Given the description of an element on the screen output the (x, y) to click on. 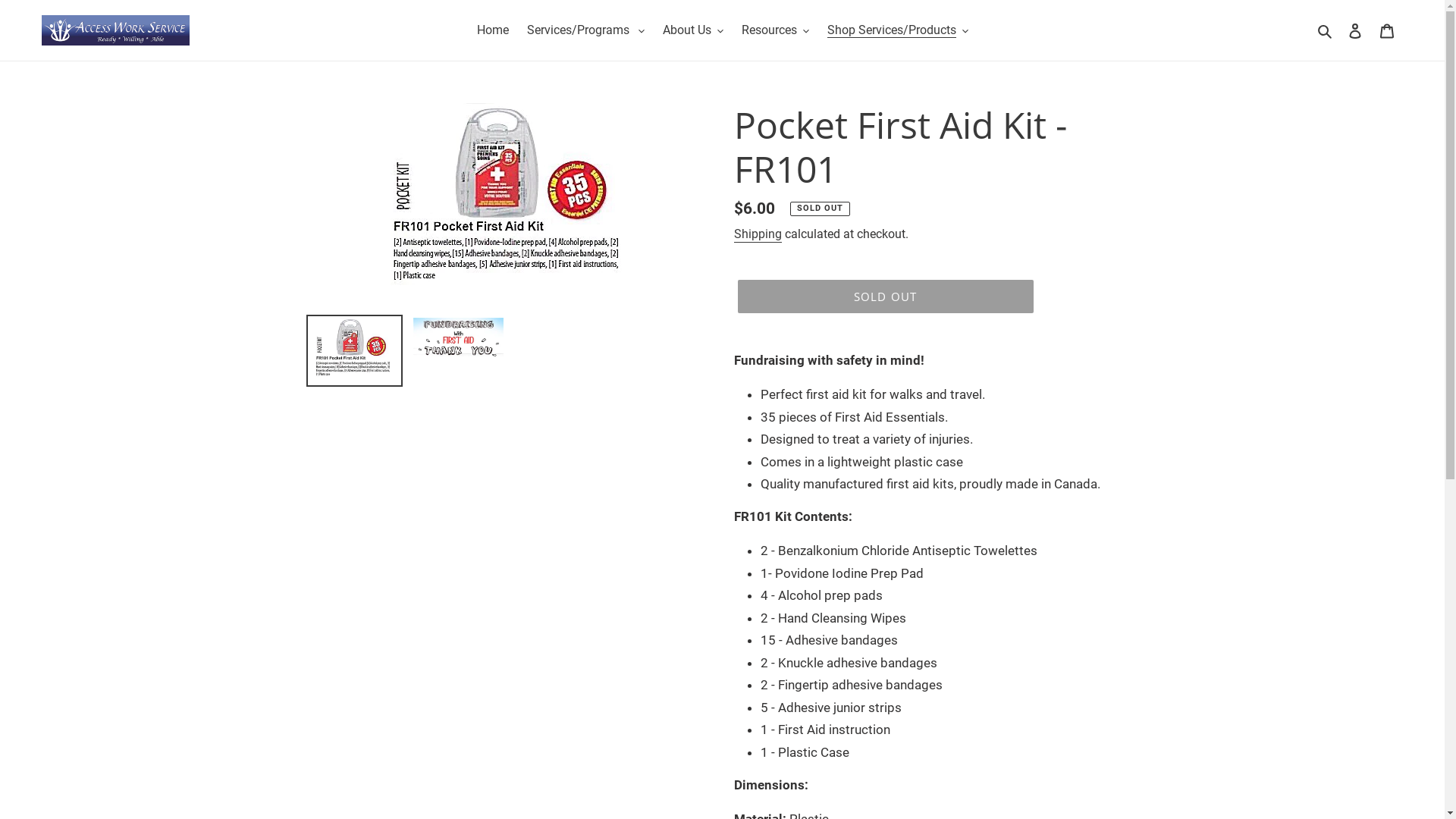
Home Element type: text (491, 29)
Shop Services/Products Element type: text (897, 29)
Resources Element type: text (775, 29)
Cart Element type: text (1386, 30)
About Us Element type: text (693, 29)
Search Element type: text (1325, 30)
Services/Programs Element type: text (584, 29)
Shipping Element type: text (757, 234)
SOLD OUT Element type: text (884, 296)
Log in Element type: text (1355, 30)
